Given the description of an element on the screen output the (x, y) to click on. 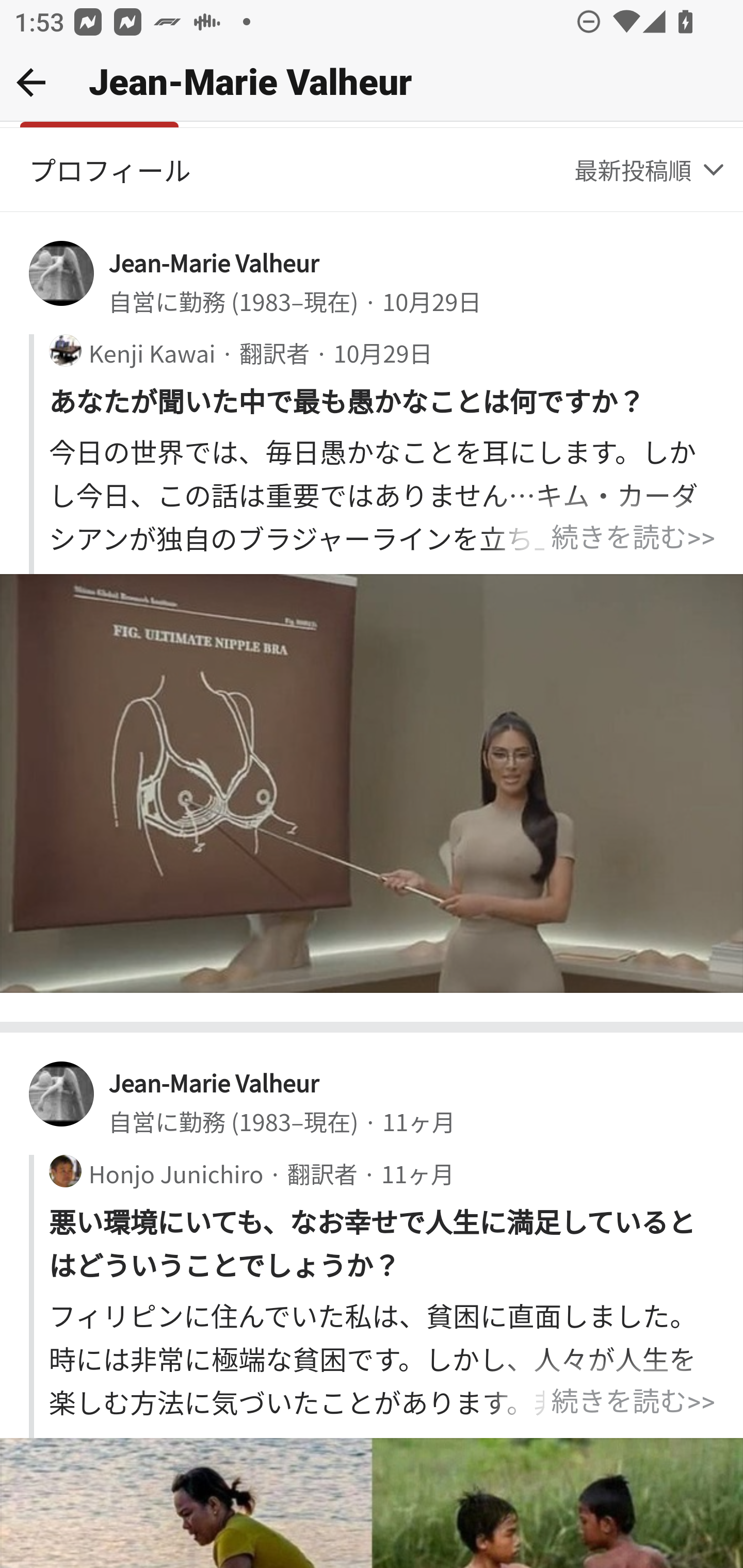
Back (30, 82)
最新投稿順 (650, 170)
Jean-Marie Valheurさんのプロフィール写真 (61, 274)
Jean-Marie Valheur (213, 261)
Kenji Kawaiさんのプロフィール写真 (64, 350)
Jean-Marie Valheurさんのプロフィール写真 (61, 1093)
Jean-Marie Valheur (213, 1081)
Honjo Junichiroさんのプロフィール写真 (64, 1171)
